Given the description of an element on the screen output the (x, y) to click on. 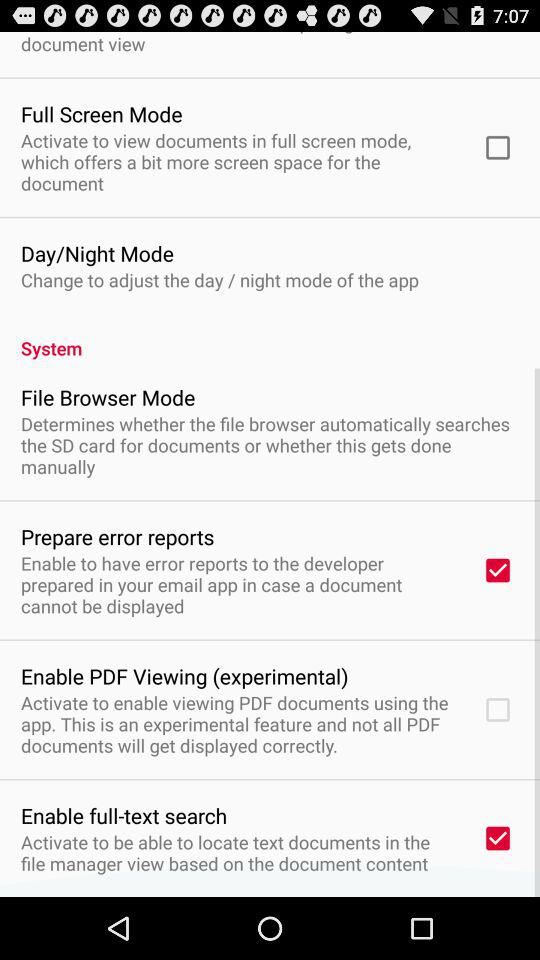
turn off the system (270, 337)
